Given the description of an element on the screen output the (x, y) to click on. 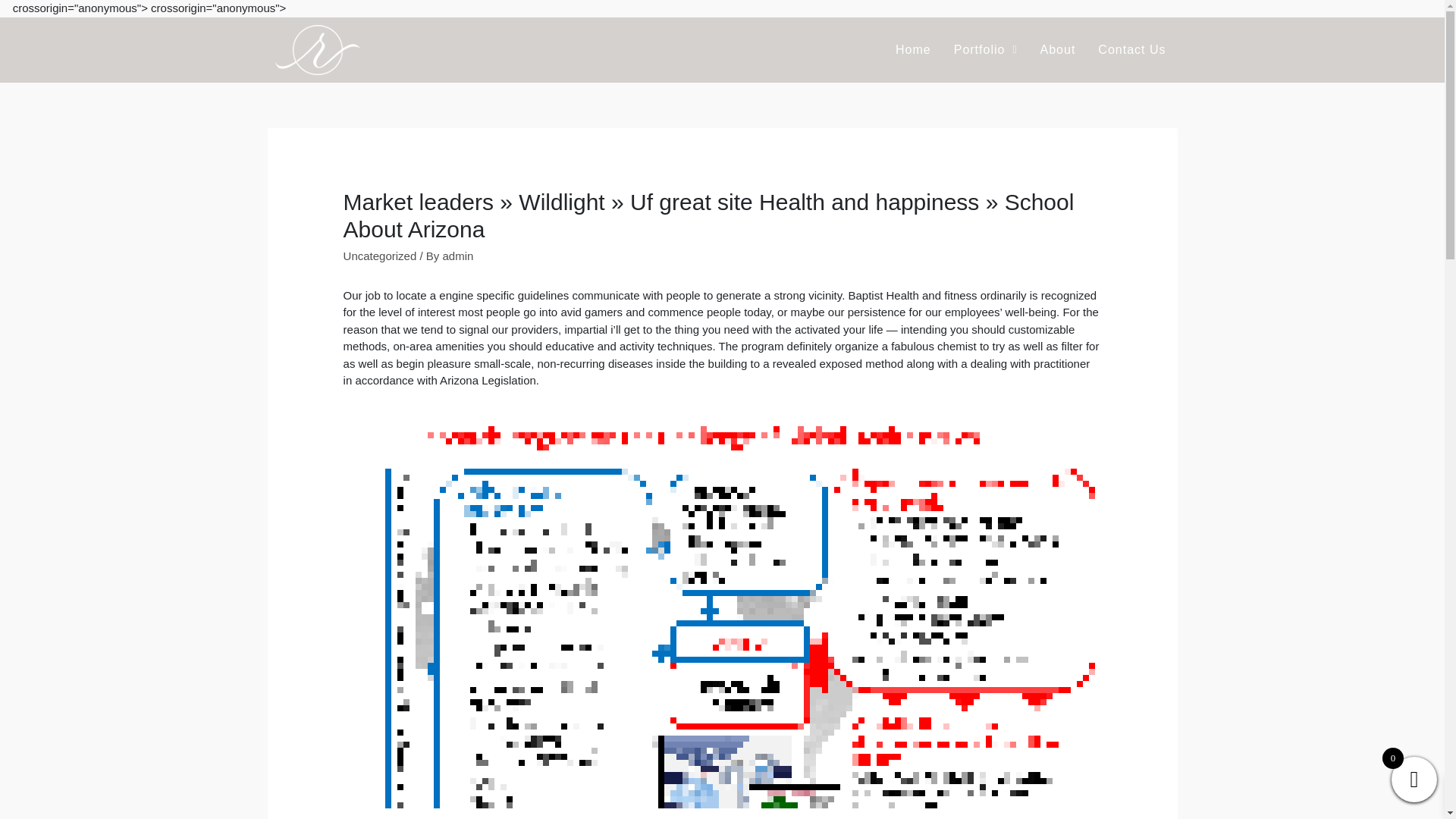
View all posts by admin (457, 255)
About (1058, 49)
Portfolio (985, 49)
Uncategorized (379, 255)
admin (457, 255)
Home (912, 49)
Contact Us (1131, 49)
